Given the description of an element on the screen output the (x, y) to click on. 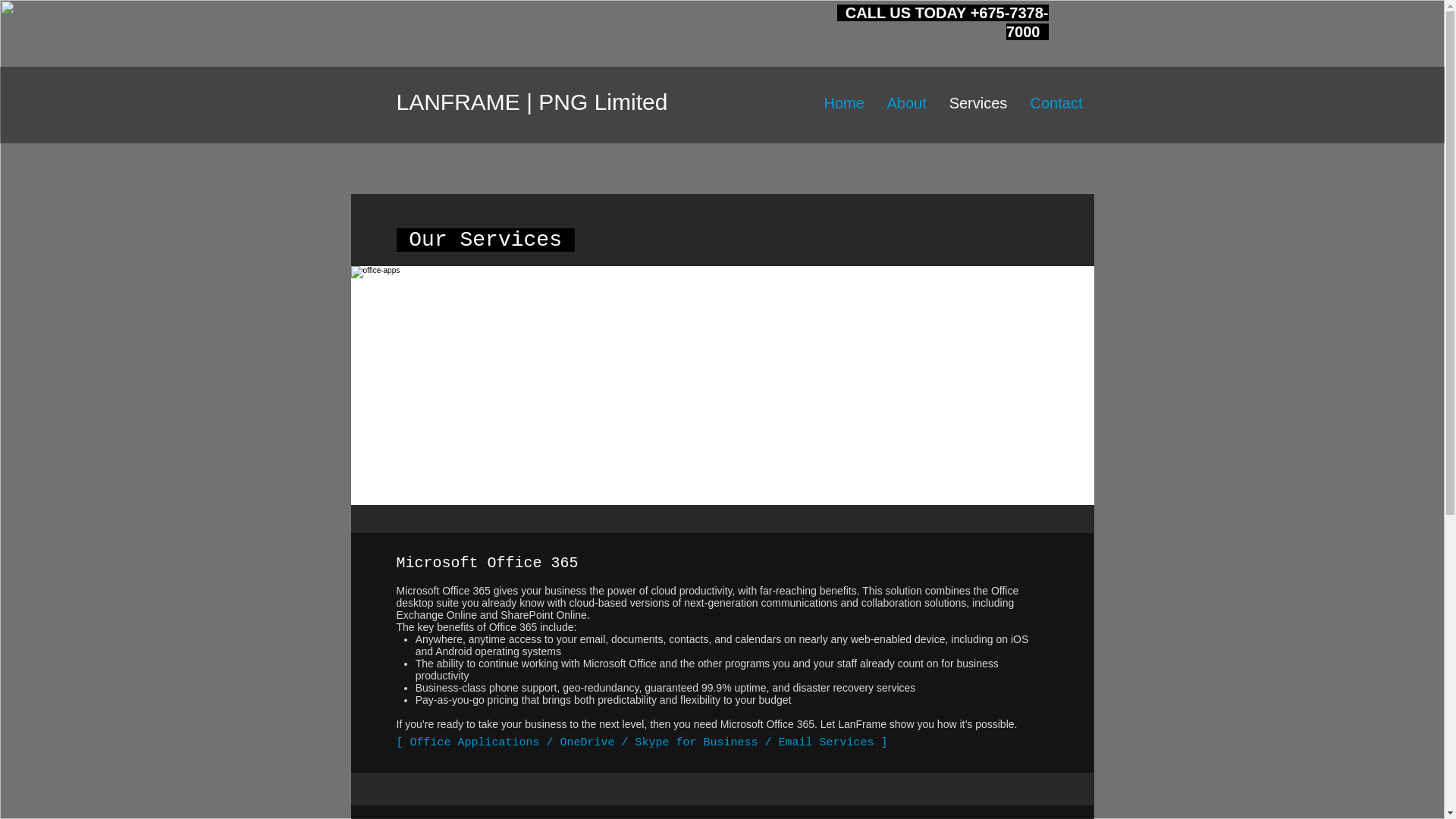
About (906, 103)
Home (844, 103)
Contact (1056, 103)
Services (977, 103)
